Given the description of an element on the screen output the (x, y) to click on. 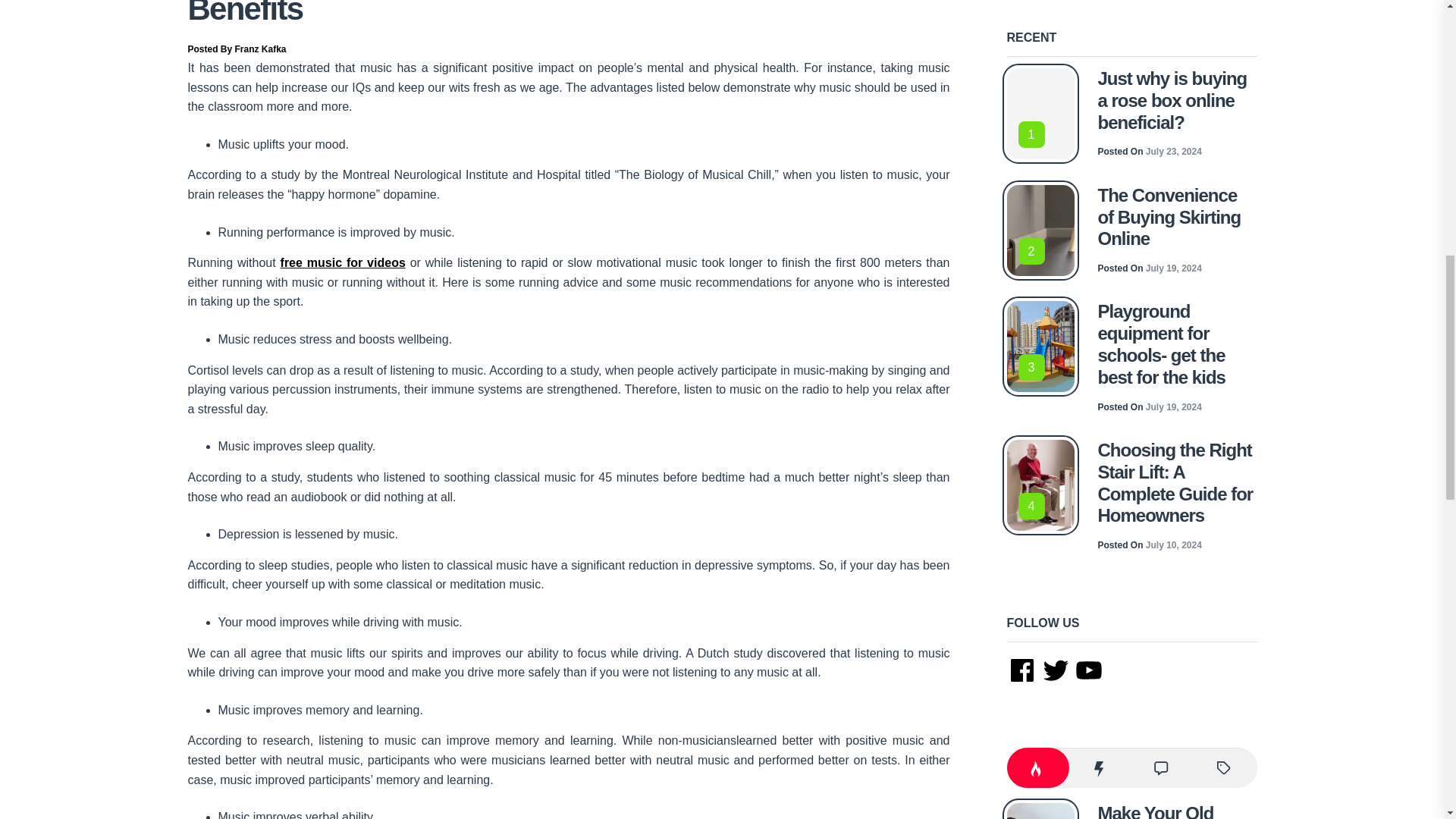
Posted By Franz Kafka (236, 49)
free music for videos (343, 262)
